Given the description of an element on the screen output the (x, y) to click on. 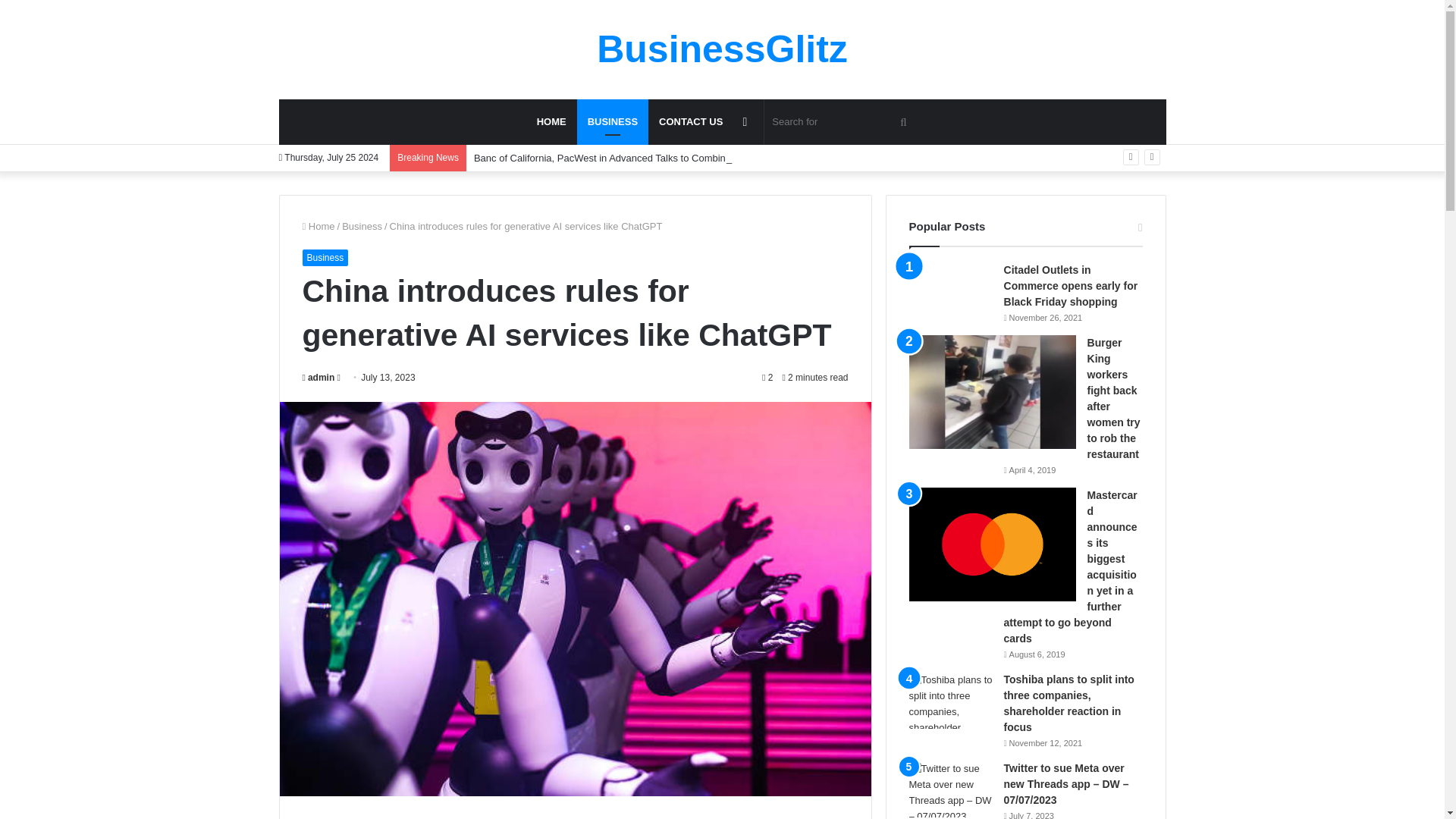
CONTACT US (690, 121)
BusinessGlitz (721, 48)
admin (317, 377)
admin (317, 377)
Business (324, 257)
Business (361, 225)
Home (317, 225)
Business (611, 121)
BUSINESS (611, 121)
Search for (841, 121)
HOME (550, 121)
BusinessGlitz (721, 48)
